Given the description of an element on the screen output the (x, y) to click on. 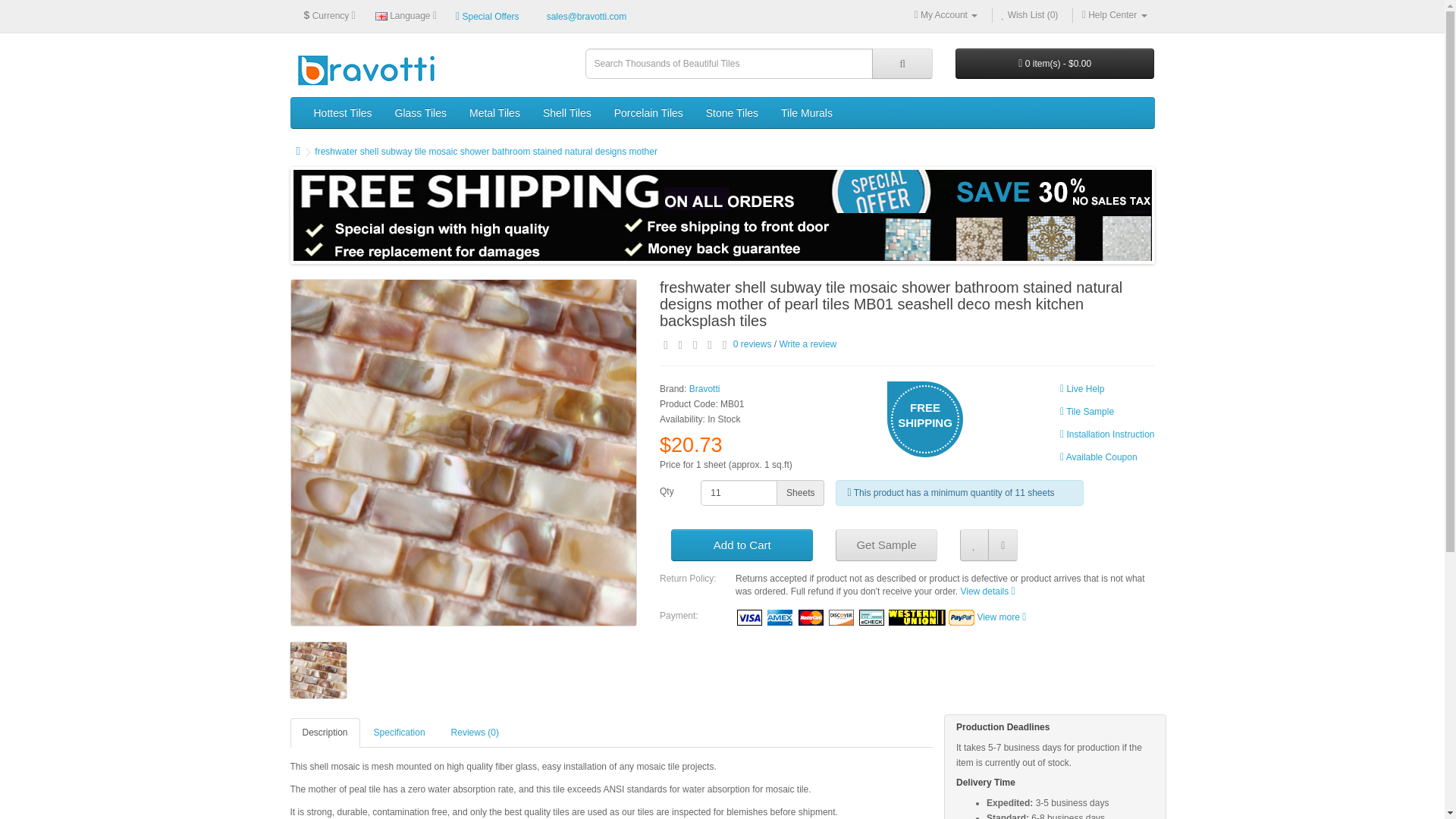
English (381, 16)
Compare this Product (1002, 545)
Help Center (1114, 14)
Add to Wish List (974, 545)
Language (405, 15)
Help Center (1114, 14)
